Given the description of an element on the screen output the (x, y) to click on. 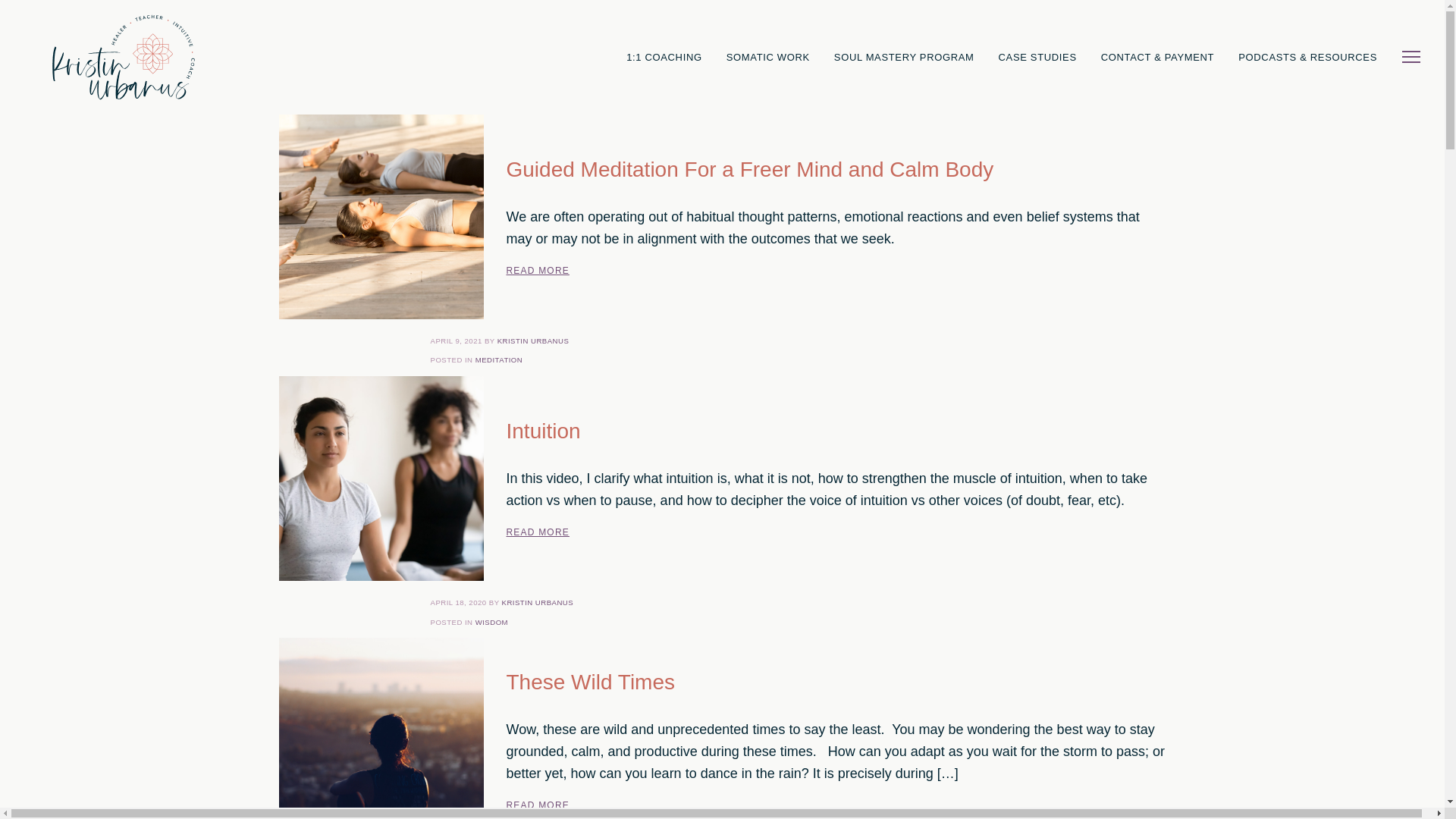
SOMATIC WORK (768, 56)
SOUL MASTERY PROGRAM (904, 56)
READ MORE (537, 270)
1:1 COACHING (664, 56)
Guided Meditation For a Freer Mind and Calm Body (836, 169)
READ MORE (537, 805)
These Wild Times (836, 682)
MEDITATION (499, 359)
KRISTIN URBANUS (537, 602)
READ MORE (537, 532)
